Given the description of an element on the screen output the (x, y) to click on. 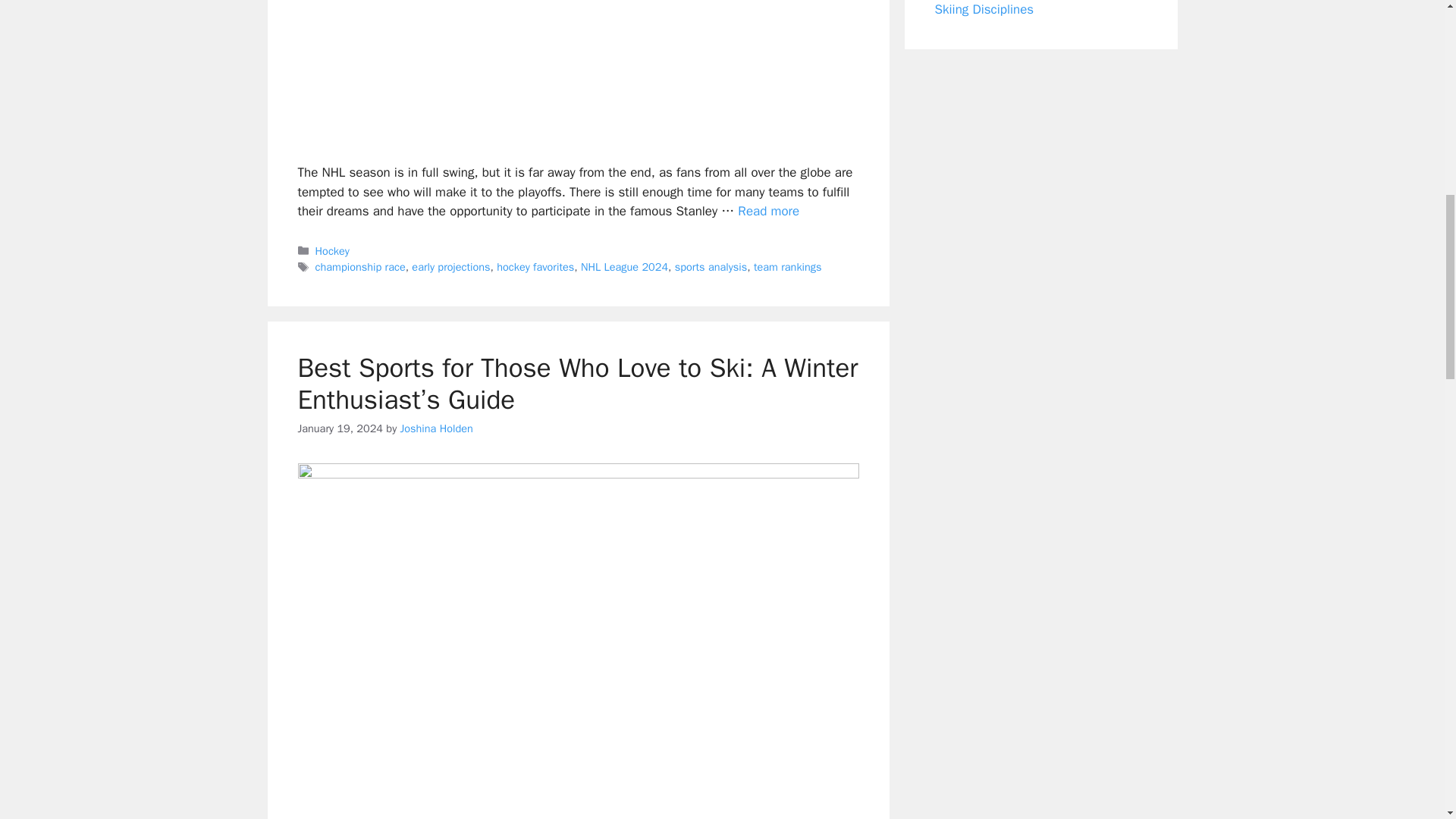
View all posts by Joshina Holden (436, 427)
championship race (360, 266)
early projections (450, 266)
Hockey (332, 250)
hockey favorites (534, 266)
team rankings (788, 266)
Read more (768, 211)
NHL League 2024 (624, 266)
Joshina Holden (436, 427)
sports analysis (710, 266)
